Given the description of an element on the screen output the (x, y) to click on. 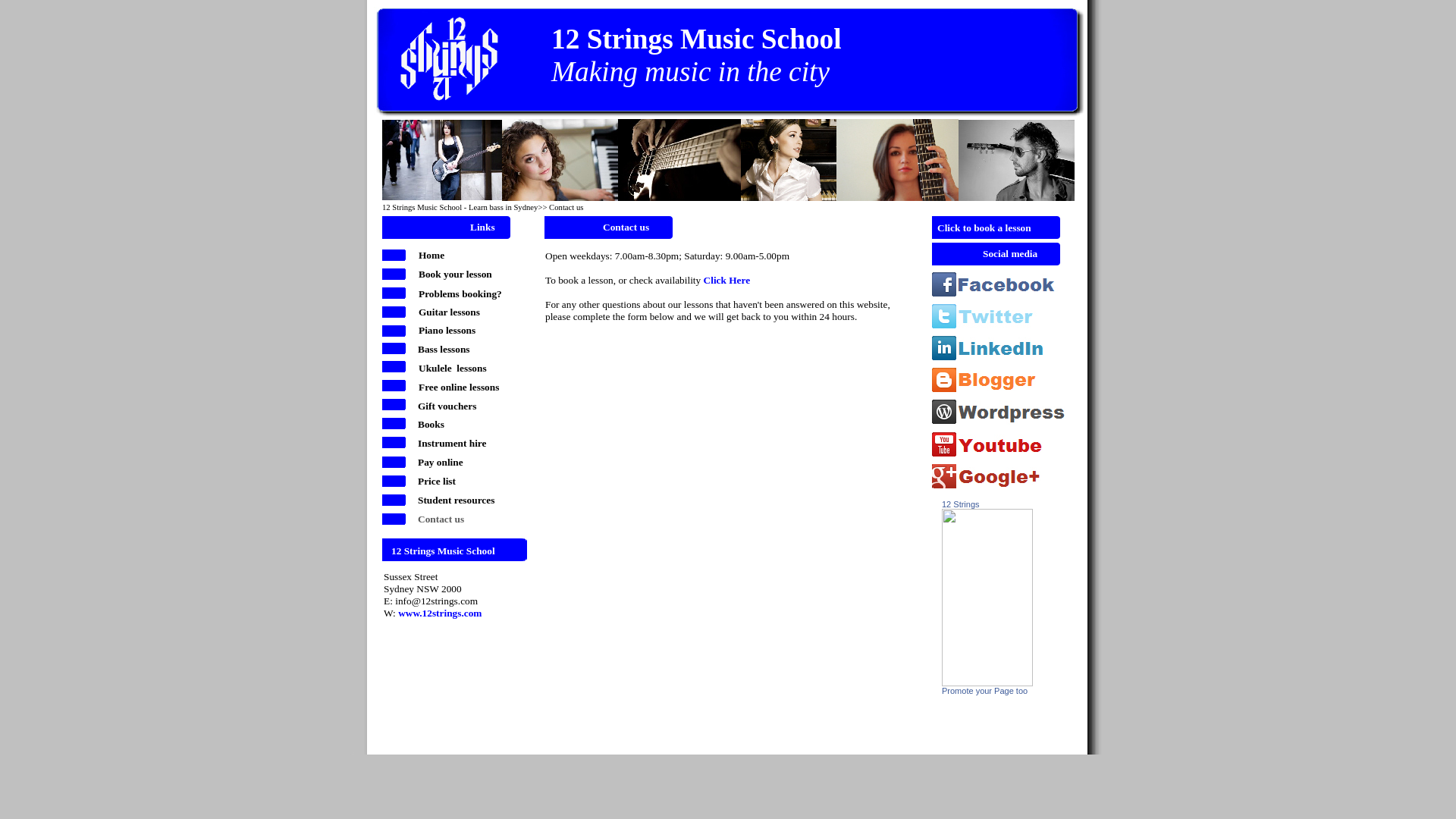
Instrument hire Element type: text (451, 442)
Pay online Element type: text (440, 461)
Home Element type: hover (395, 256)
Home Element type: text (431, 253)
Price list Element type: text (436, 479)
Ukulele lessons Element type: hover (395, 367)
Book a lesson Element type: hover (395, 275)
Click to book a lesson Element type: text (984, 226)
12 Strings Element type: text (960, 503)
Books Element type: hover (395, 424)
Free online lessons Element type: text (458, 385)
Advertisement Element type: hover (655, 666)
Book your lesson Element type: text (455, 272)
Promote your Page too Element type: text (984, 690)
Bass lessons Element type: hover (395, 349)
> Contact us Element type: text (562, 205)
Price List Element type: hover (395, 482)
Click here for Element type: text (985, 52)
Instrument Hire Element type: hover (395, 443)
Contact Us Element type: hover (395, 520)
Gift Vouchers Element type: hover (395, 405)
www.12strings.com Element type: text (439, 611)
Gift vouchers Element type: text (446, 404)
Click Here Element type: text (726, 279)
Guitar lessons Element type: text (449, 310)
Bass lessons Element type: text (443, 348)
A $5 beginner guitar book Element type: text (986, 68)
Online booking Element type: hover (395, 294)
12 Strings Music School - Learn bass in Sydney> Element type: text (462, 205)
Problems booking? Element type: text (460, 292)
Instant Scheduling Element type: hover (996, 235)
Piano lessons Element type: text (446, 329)
Online lessons Element type: hover (395, 386)
Contact us Element type: text (440, 517)
Ukulele  lessons Element type: text (452, 366)
Student resources Element type: text (455, 498)
Pay Online Element type: hover (395, 463)
Piano lessons Element type: hover (395, 332)
Books Element type: text (430, 423)
12 Strings Element type: hover (986, 681)
Student Resources Element type: hover (395, 501)
Guitar lessons Element type: hover (395, 313)
